Given the description of an element on the screen output the (x, y) to click on. 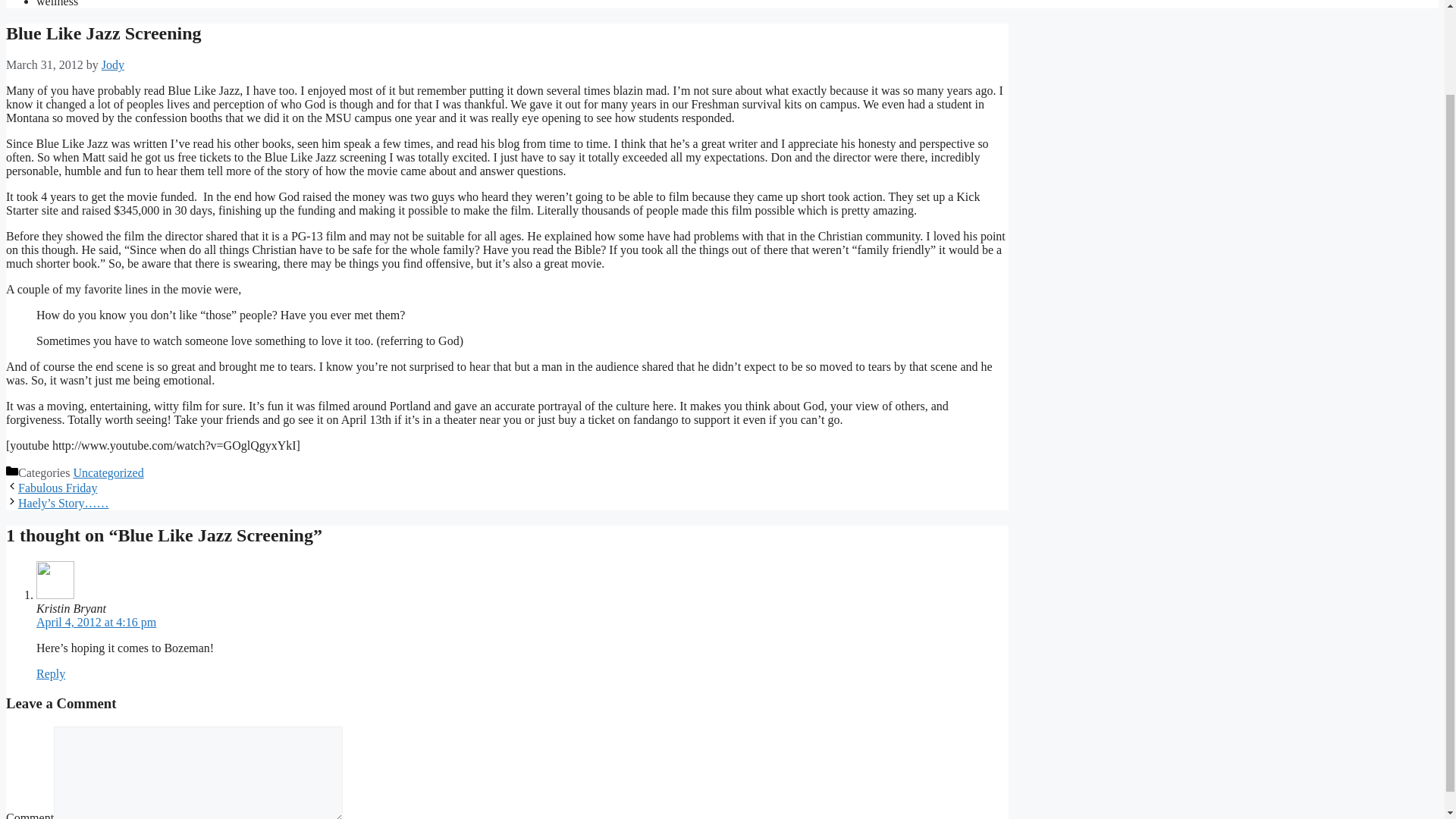
Jody (112, 64)
wellness (57, 3)
Uncategorized (107, 472)
Fabulous Friday (57, 487)
View all posts by Jody (112, 64)
April 4, 2012 at 4:16 pm (95, 621)
Reply (50, 673)
